Given the description of an element on the screen output the (x, y) to click on. 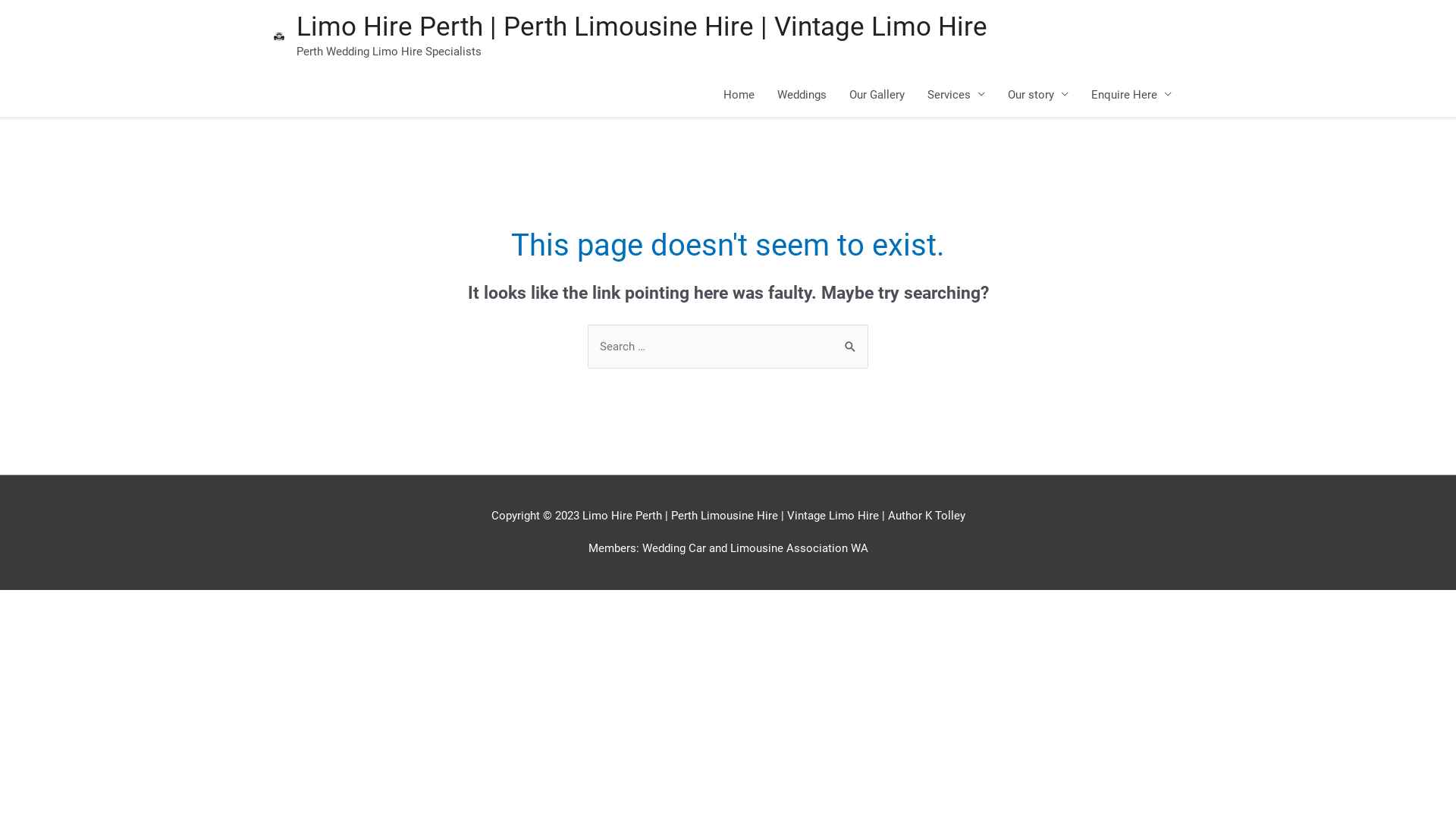
Services Element type: text (956, 93)
Search Element type: text (851, 339)
Home Element type: text (738, 93)
Our story Element type: text (1037, 93)
Enquire Here Element type: text (1131, 93)
Limo Hire Perth | Perth Limousine Hire | Vintage Limo Hire Element type: text (641, 26)
Weddings Element type: text (801, 93)
Our Gallery Element type: text (876, 93)
